Given the description of an element on the screen output the (x, y) to click on. 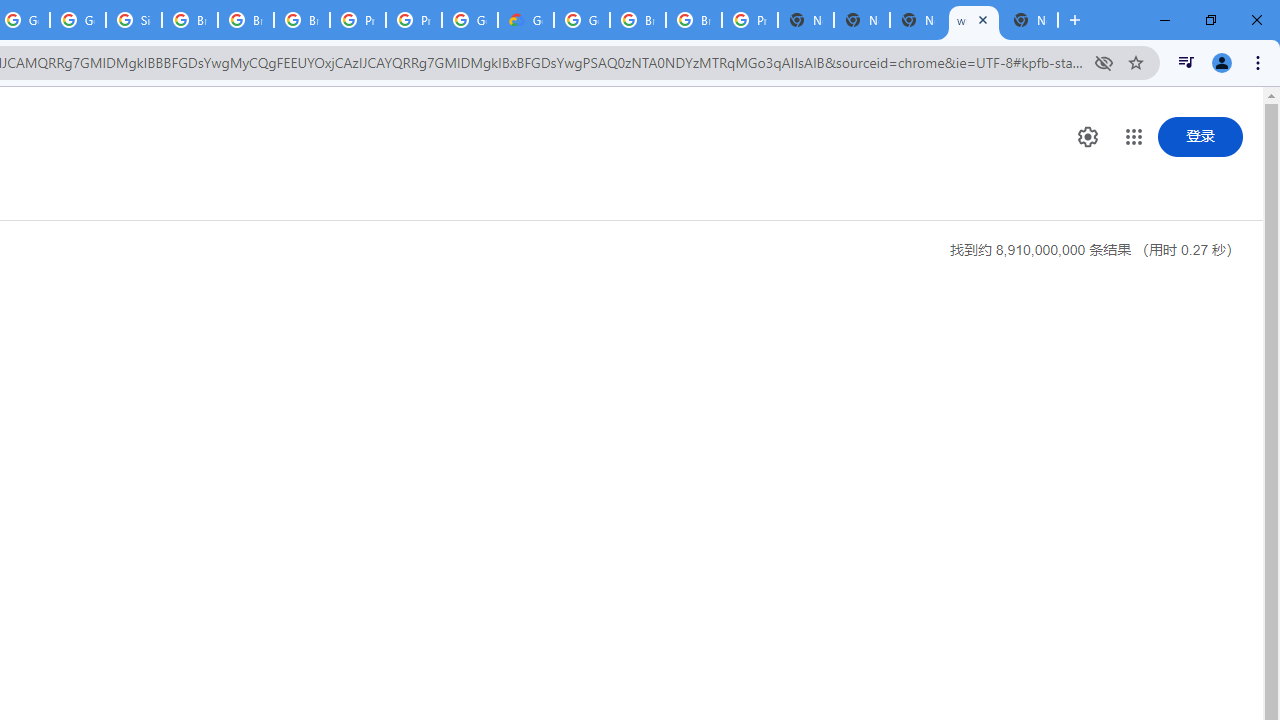
Google Cloud Estimate Summary (525, 20)
New Tab (1030, 20)
Google Cloud Platform (469, 20)
Browse Chrome as a guest - Computer - Google Chrome Help (245, 20)
Sign in - Google Accounts (134, 20)
